Given the description of an element on the screen output the (x, y) to click on. 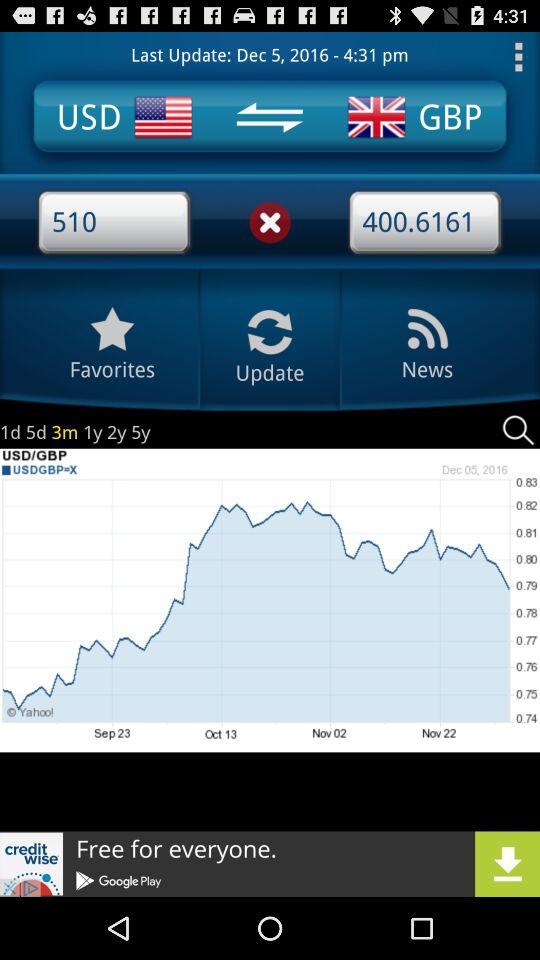
add icon (270, 864)
